Given the description of an element on the screen output the (x, y) to click on. 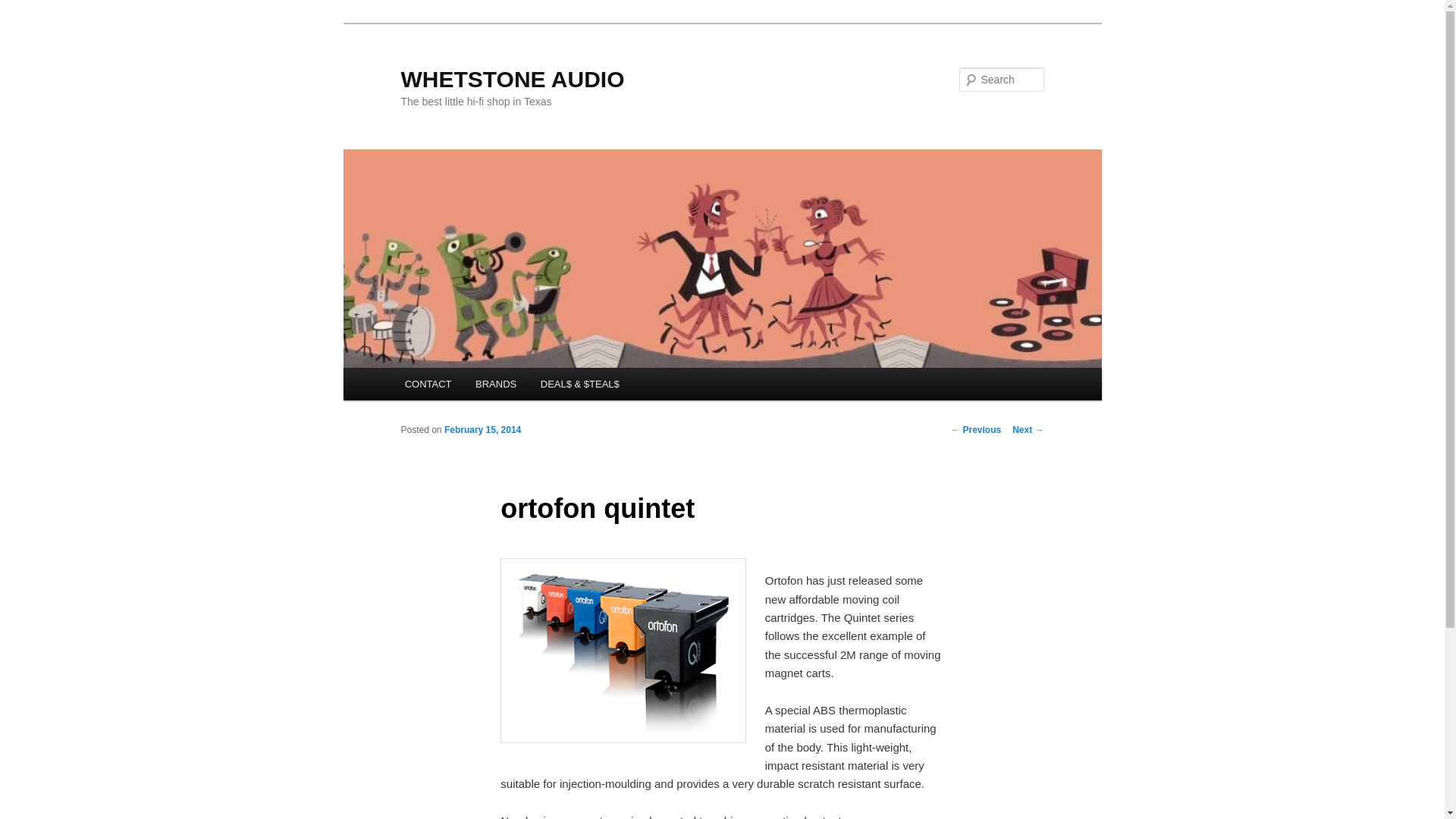
BRANDS (495, 383)
WHETSTONE AUDIO (512, 78)
Search (24, 8)
Skip to primary content (472, 386)
Skip to secondary content (479, 386)
CONTACT (428, 383)
12:26 am (482, 429)
February 15, 2014 (482, 429)
WHETSTONE AUDIO (512, 78)
Skip to secondary content (479, 386)
